Given the description of an element on the screen output the (x, y) to click on. 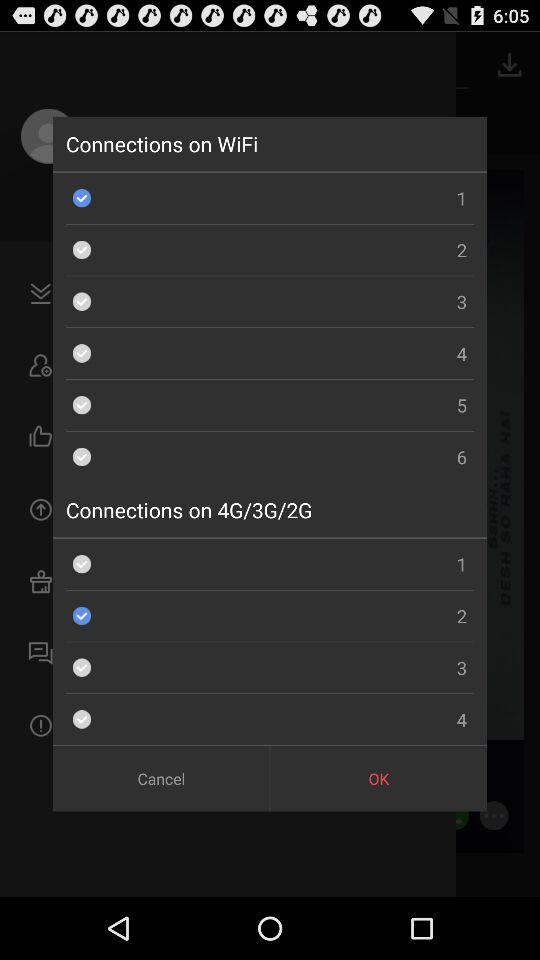
scroll to ok item (378, 778)
